Given the description of an element on the screen output the (x, y) to click on. 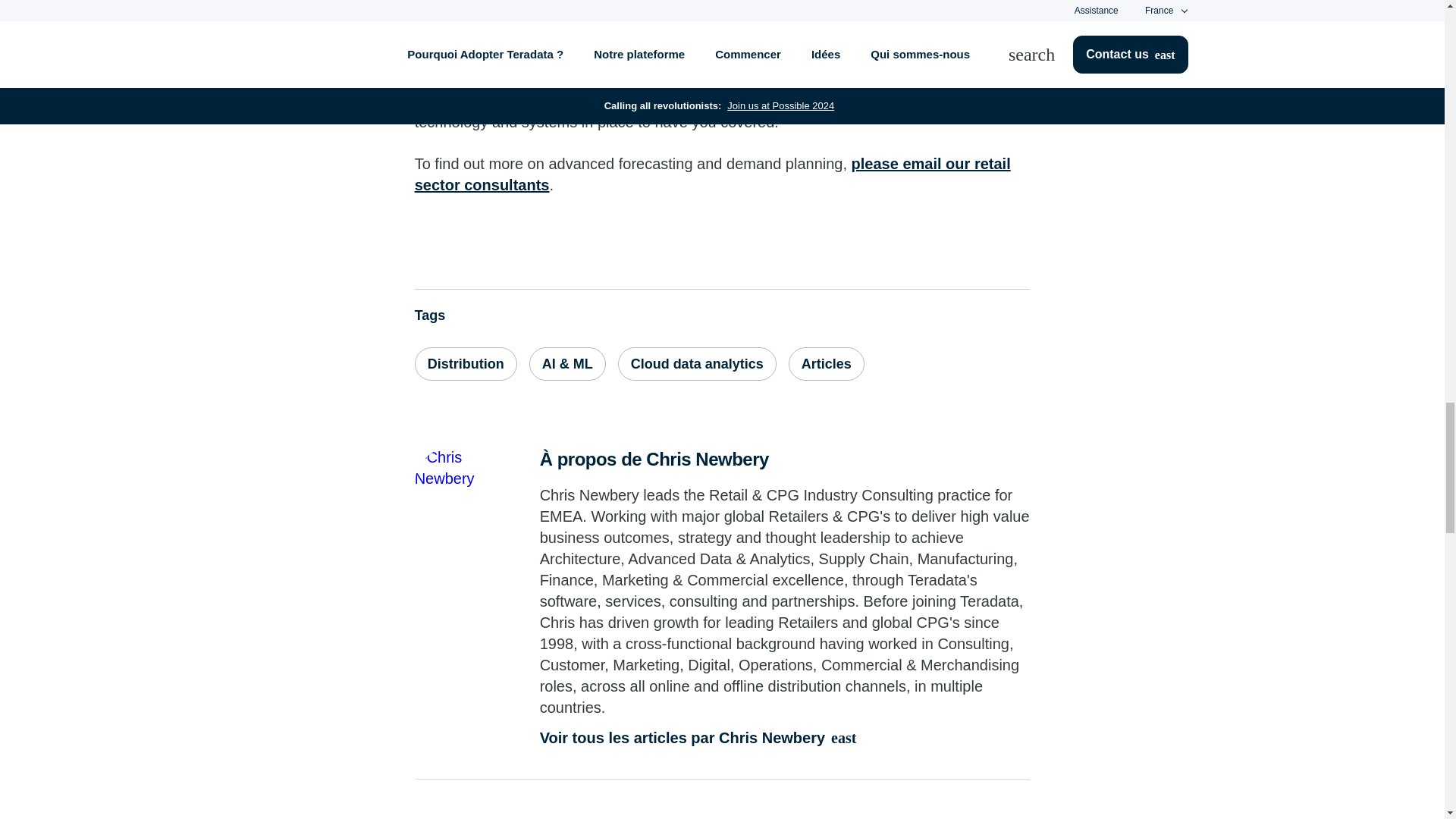
Distribution (465, 363)
Cloud data analytics (696, 363)
Articles (826, 363)
please email our retail sector consultants (712, 174)
Chris Newbery (452, 484)
Voir tous les articles par Chris Newbery (785, 737)
